Given the description of an element on the screen output the (x, y) to click on. 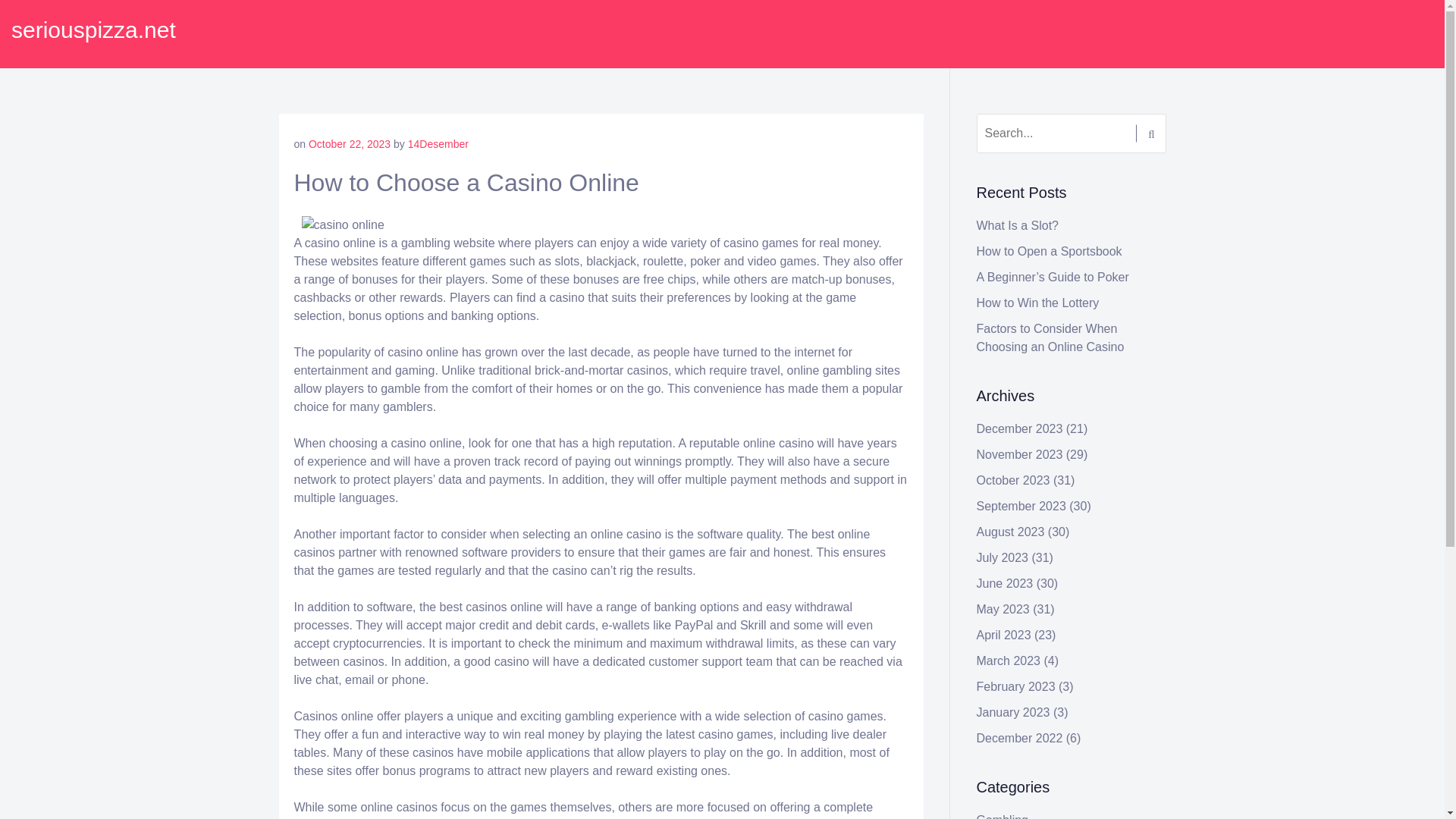
February 2023 (1015, 686)
December 2022 (1019, 738)
14Desember (437, 143)
October 22, 2023 (349, 143)
October 2023 (1012, 480)
What Is a Slot? (1017, 225)
seriouspizza.net (93, 29)
May 2023 (1002, 608)
December 2023 (1019, 428)
June 2023 (1004, 583)
